Given the description of an element on the screen output the (x, y) to click on. 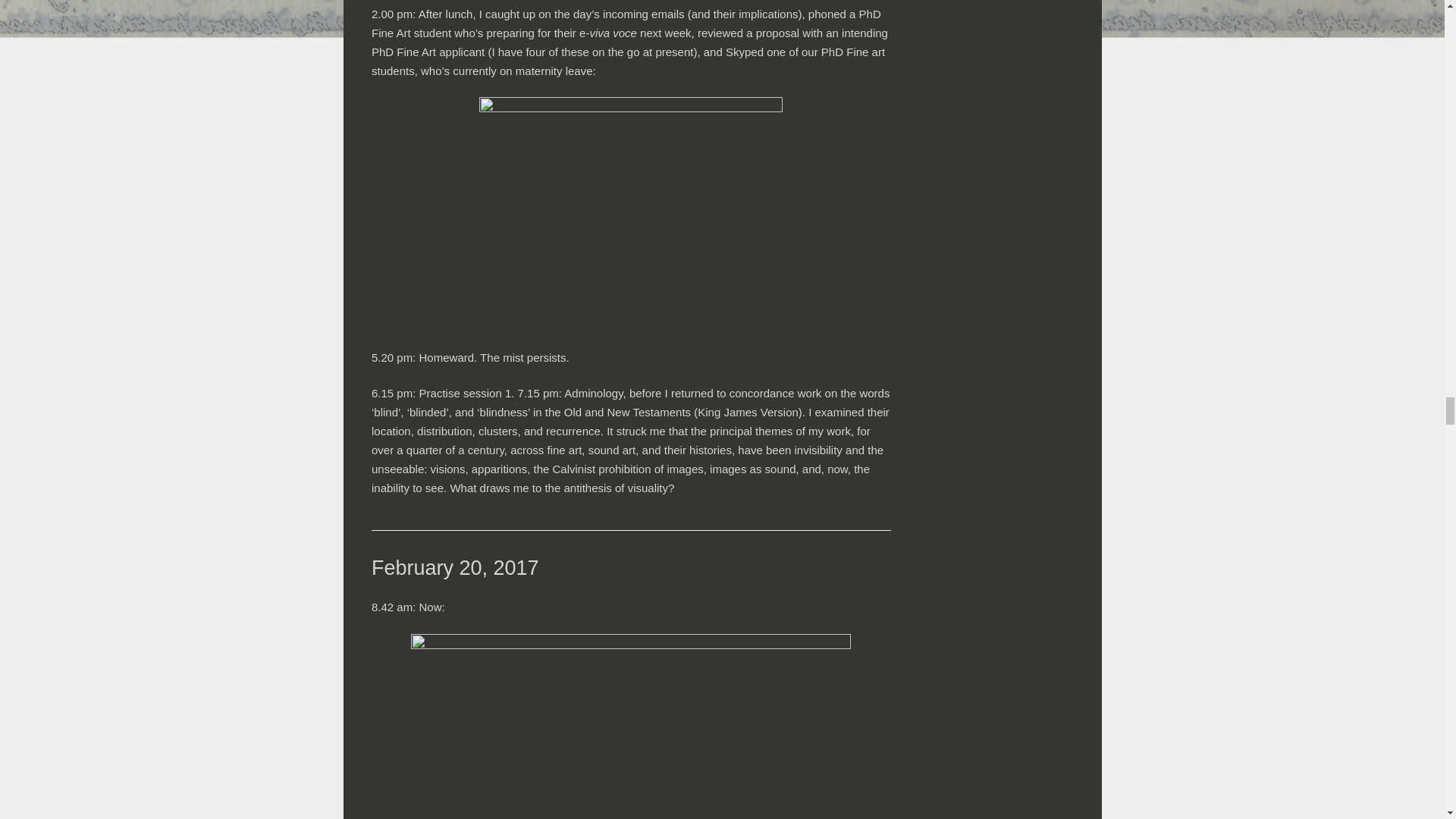
February 20, 2017 (454, 567)
